Given the description of an element on the screen output the (x, y) to click on. 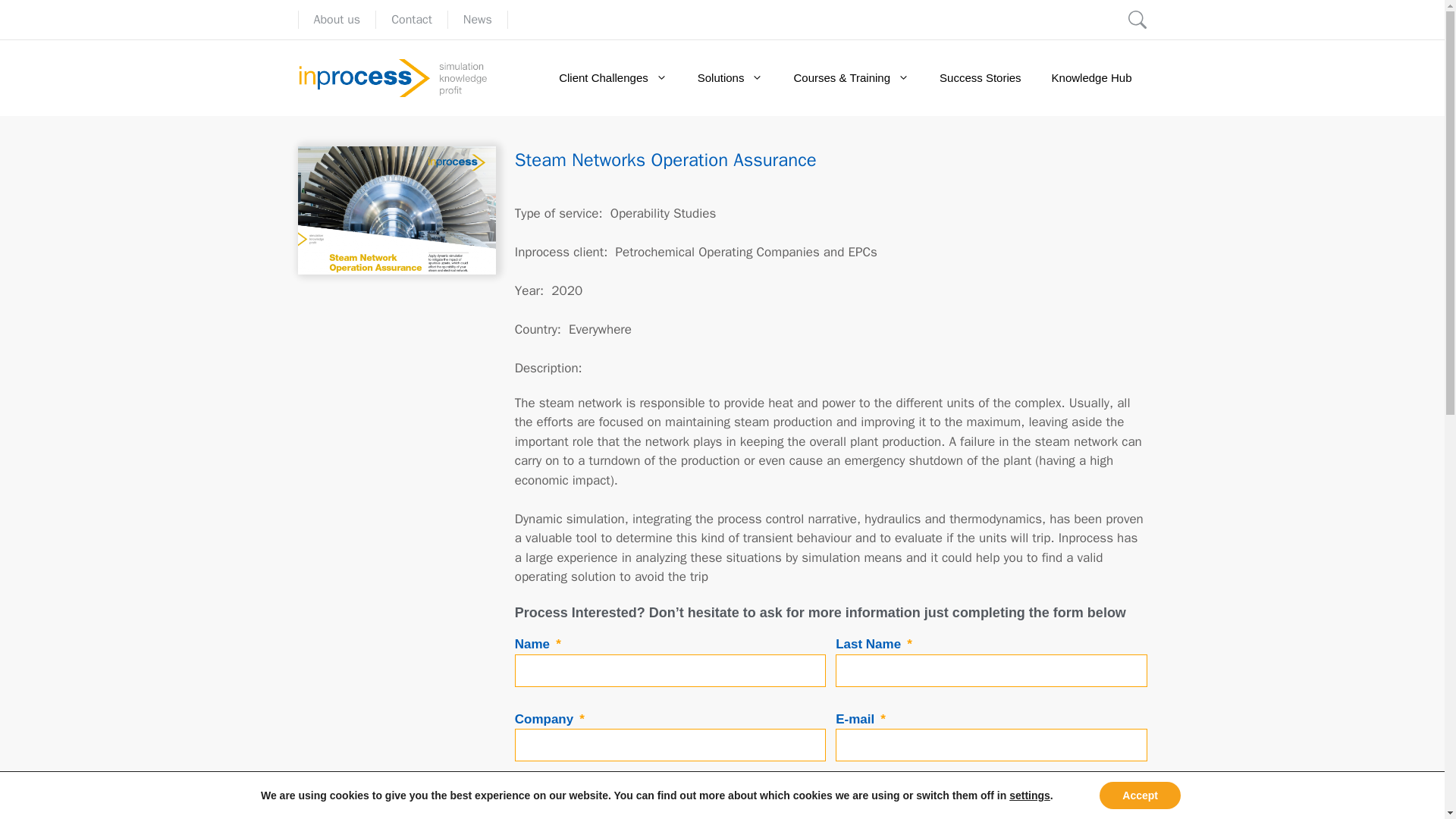
Client Challenges (612, 77)
Solutions (730, 77)
News (477, 19)
Success Stories (980, 77)
Contact (411, 19)
About us (337, 19)
Knowledge Hub (1091, 77)
